Given the description of an element on the screen output the (x, y) to click on. 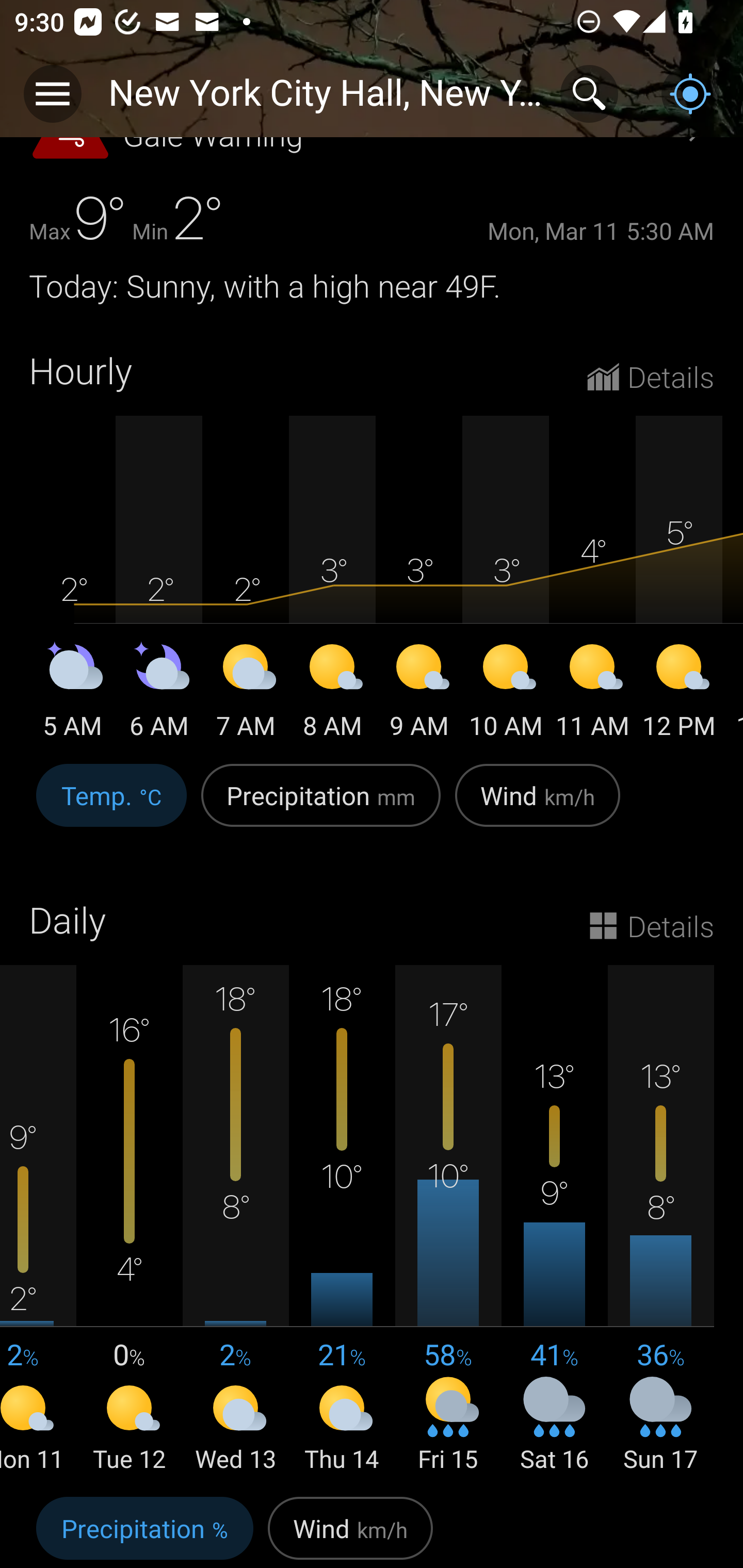
5 AM (71, 694)
6 AM (158, 694)
7 AM (245, 694)
8 AM (332, 694)
9 AM (418, 694)
10 AM (505, 694)
11 AM (592, 694)
12 PM (679, 694)
Temp. °C (110, 806)
Precipitation mm (320, 806)
Wind km/h (537, 806)
9° 2° 2 % Mon 11 (38, 1219)
16° 4° 0 % Tue 12 (129, 1219)
18° 8° 2 % Wed 13 (235, 1219)
18° 10° 21 % Thu 14 (342, 1219)
17° 10° 58 % Fri 15 (448, 1219)
13° 9° 41 % Sat 16 (554, 1219)
13° 8° 36 % Sun 17 (660, 1219)
Precipitation % (144, 1528)
Wind km/h (349, 1528)
